Given the description of an element on the screen output the (x, y) to click on. 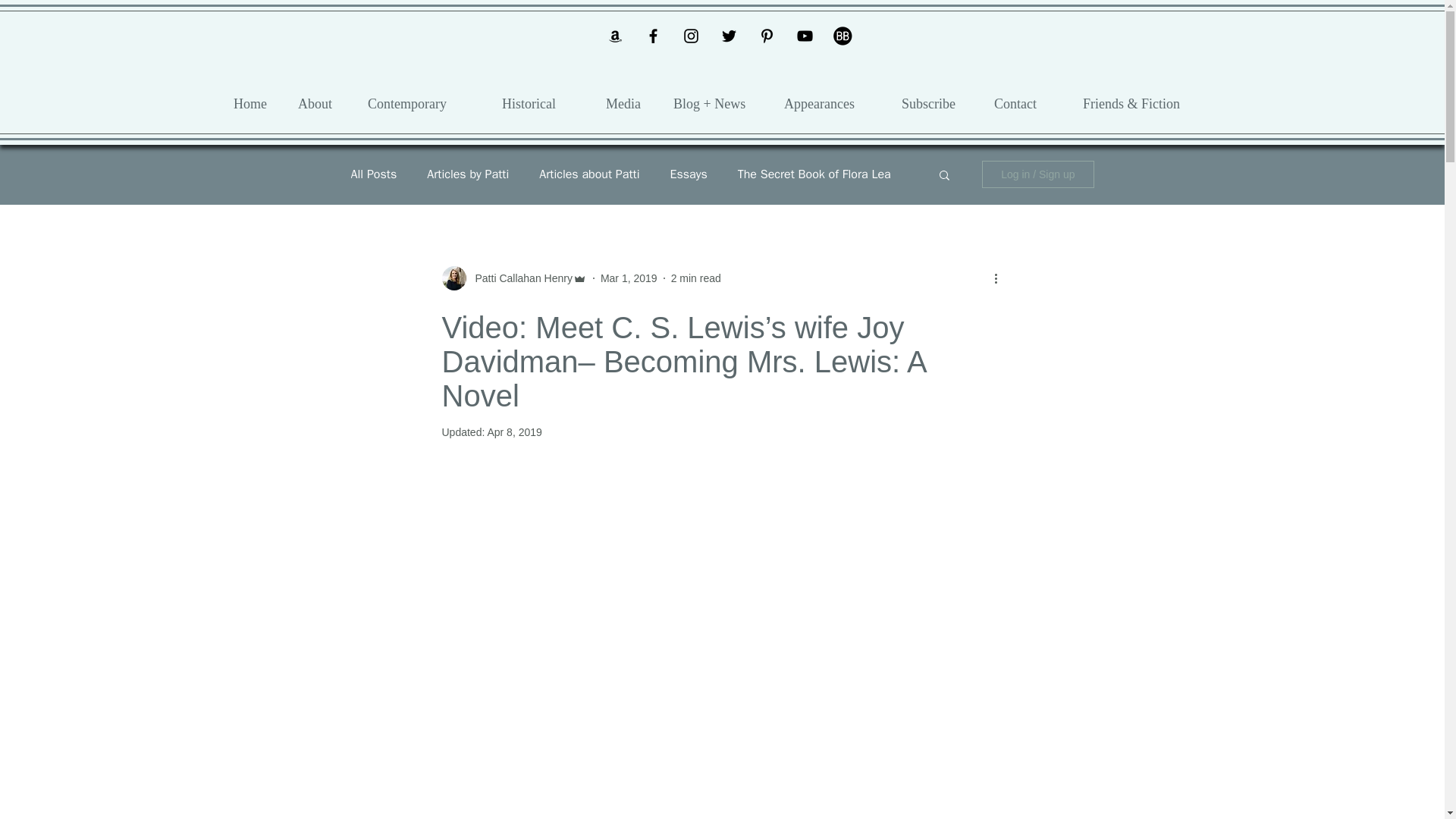
Media (628, 103)
Patti Callahan Henry  (518, 277)
Apr 8, 2019 (513, 431)
Mar 1, 2019 (628, 277)
About (321, 103)
2 min read (695, 277)
Home (254, 103)
Historical (542, 103)
Contemporary (423, 103)
